Given the description of an element on the screen output the (x, y) to click on. 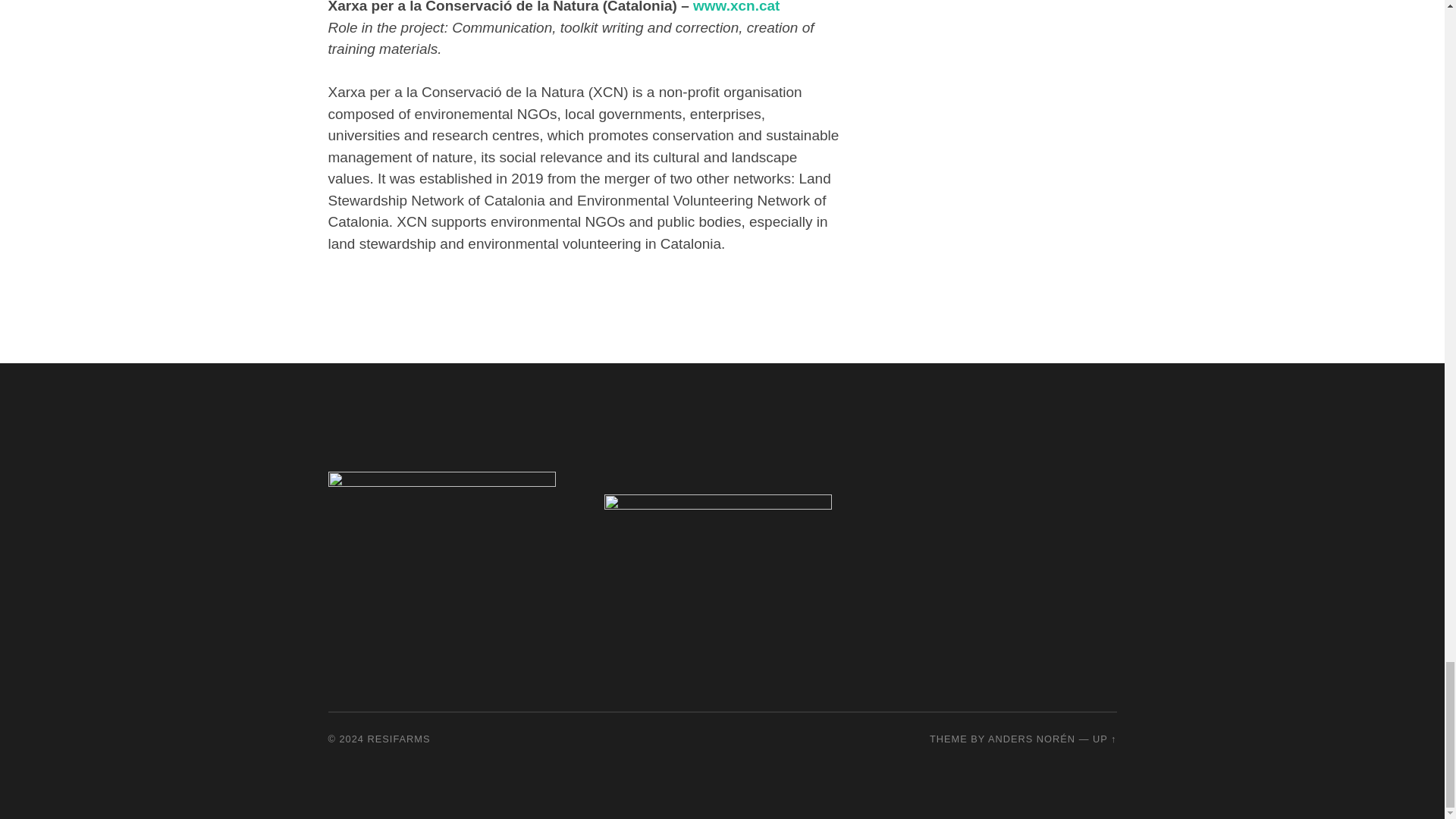
To the top (1104, 738)
